Given the description of an element on the screen output the (x, y) to click on. 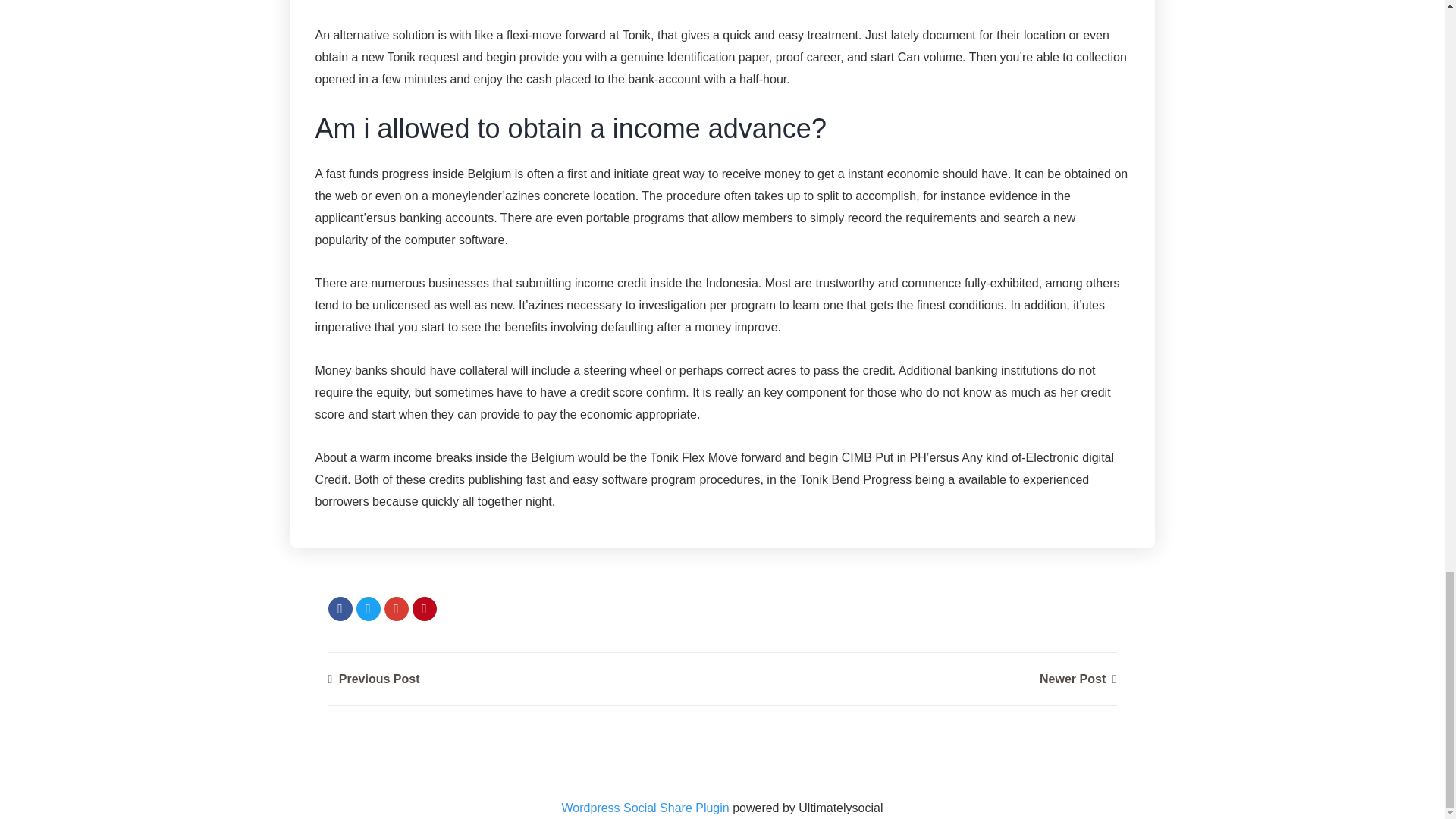
Previous Post (373, 678)
Newer Post (1077, 678)
Facebook (339, 608)
Google Plus (395, 608)
Twitter (368, 608)
Pinterest (424, 608)
